Given the description of an element on the screen output the (x, y) to click on. 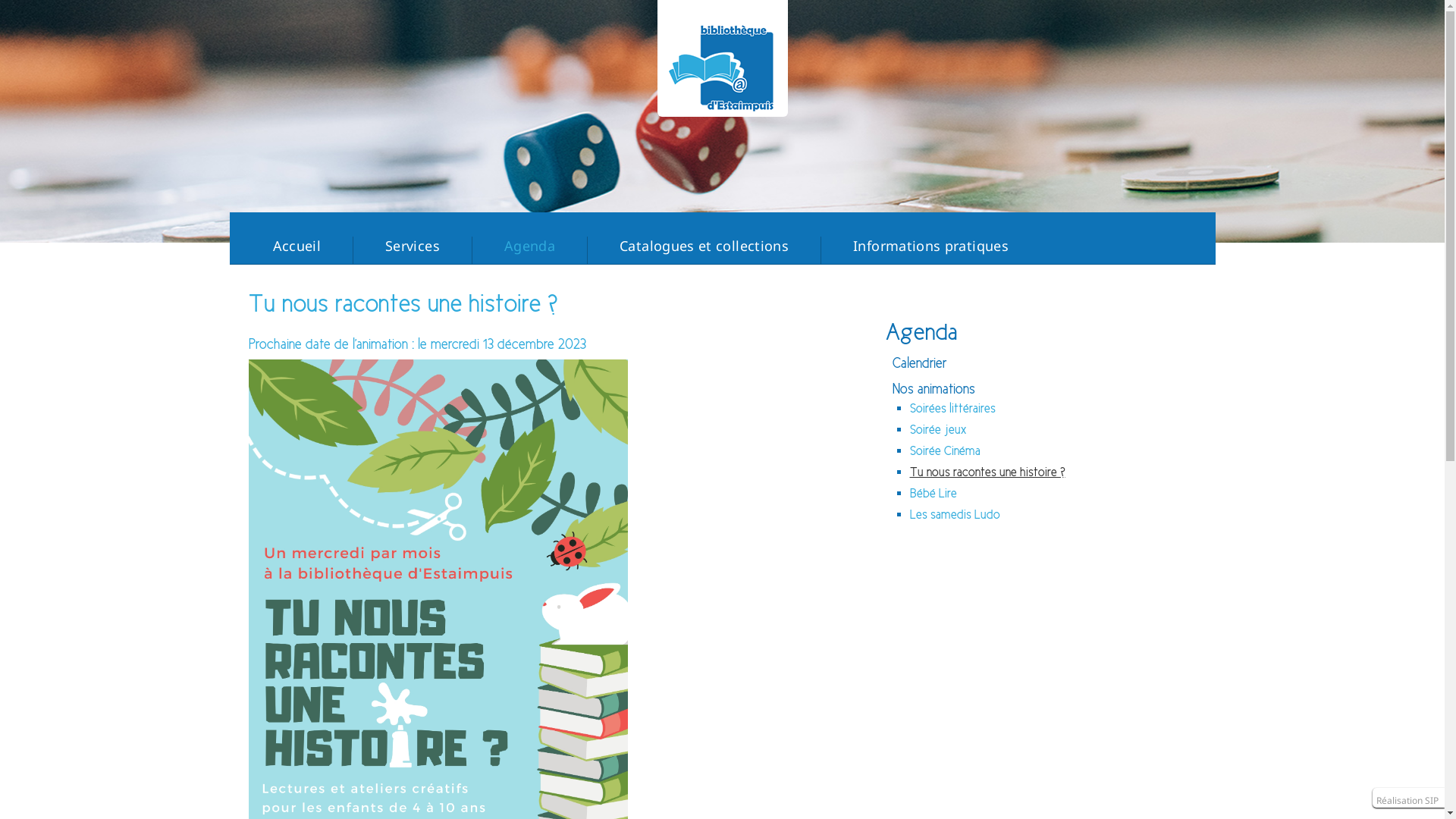
Informations pratiques Element type: text (930, 245)
Catalogues et collections Element type: text (703, 245)
Services Element type: text (412, 245)
Calendrier Element type: text (918, 362)
Les samedis Ludo Element type: text (955, 514)
Tu nous racontes une histoire ? Element type: text (987, 471)
Agenda Element type: text (529, 245)
Nos animations Element type: text (932, 388)
Accueil Element type: text (297, 245)
